Given the description of an element on the screen output the (x, y) to click on. 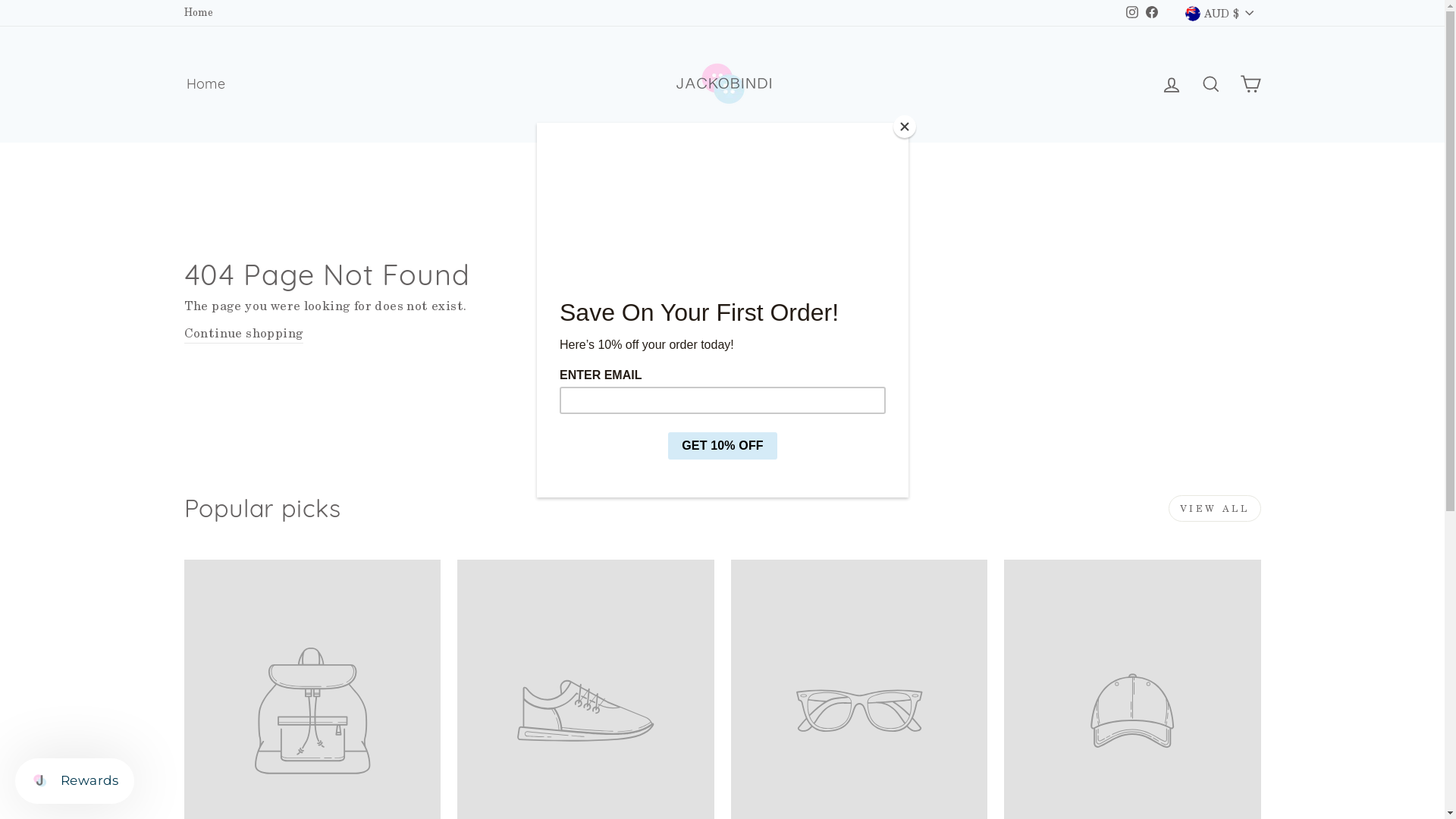
Search Element type: text (1210, 84)
Home Element type: text (197, 12)
Facebook Element type: text (1151, 12)
Continue shopping Element type: text (243, 333)
Instagram Element type: text (1132, 12)
AUD $ Element type: text (1218, 12)
Skip to content Element type: text (0, 0)
Log in Element type: text (1170, 84)
Rewards Element type: text (74, 780)
Home Element type: text (205, 84)
VIEW ALL Element type: text (1214, 508)
Cart Element type: text (1249, 84)
